Given the description of an element on the screen output the (x, y) to click on. 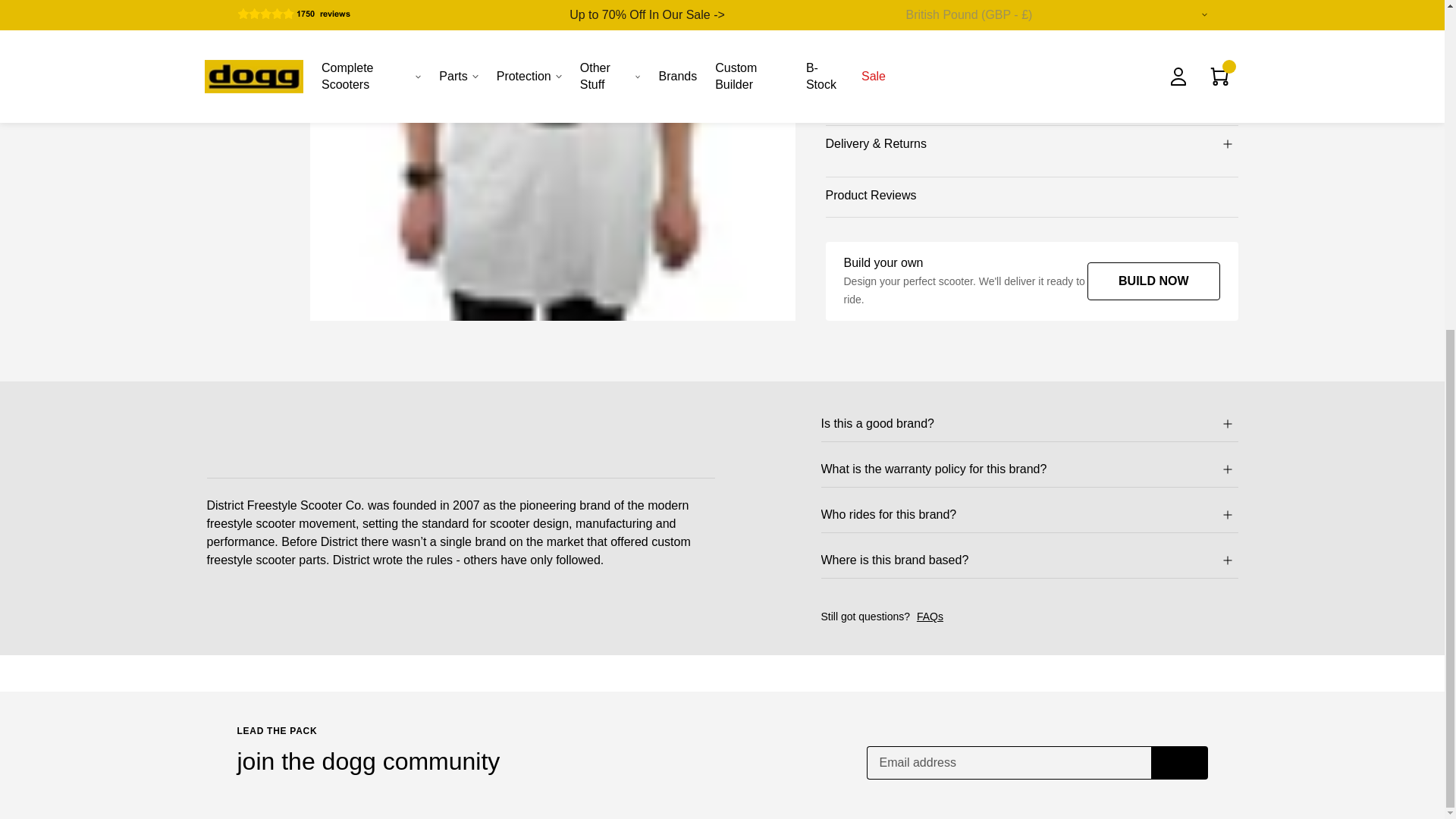
Dogg Shadow Hoodie - Black (326, 682)
Dogg Branded Tee - Black (590, 682)
Dogg Scooters Multi Tool (1118, 682)
Dogg Shadow Hoodie - Black (326, 529)
Dogg Scooters Multi Tool (1118, 529)
Dogg Branded Tee - Black (590, 529)
